Given the description of an element on the screen output the (x, y) to click on. 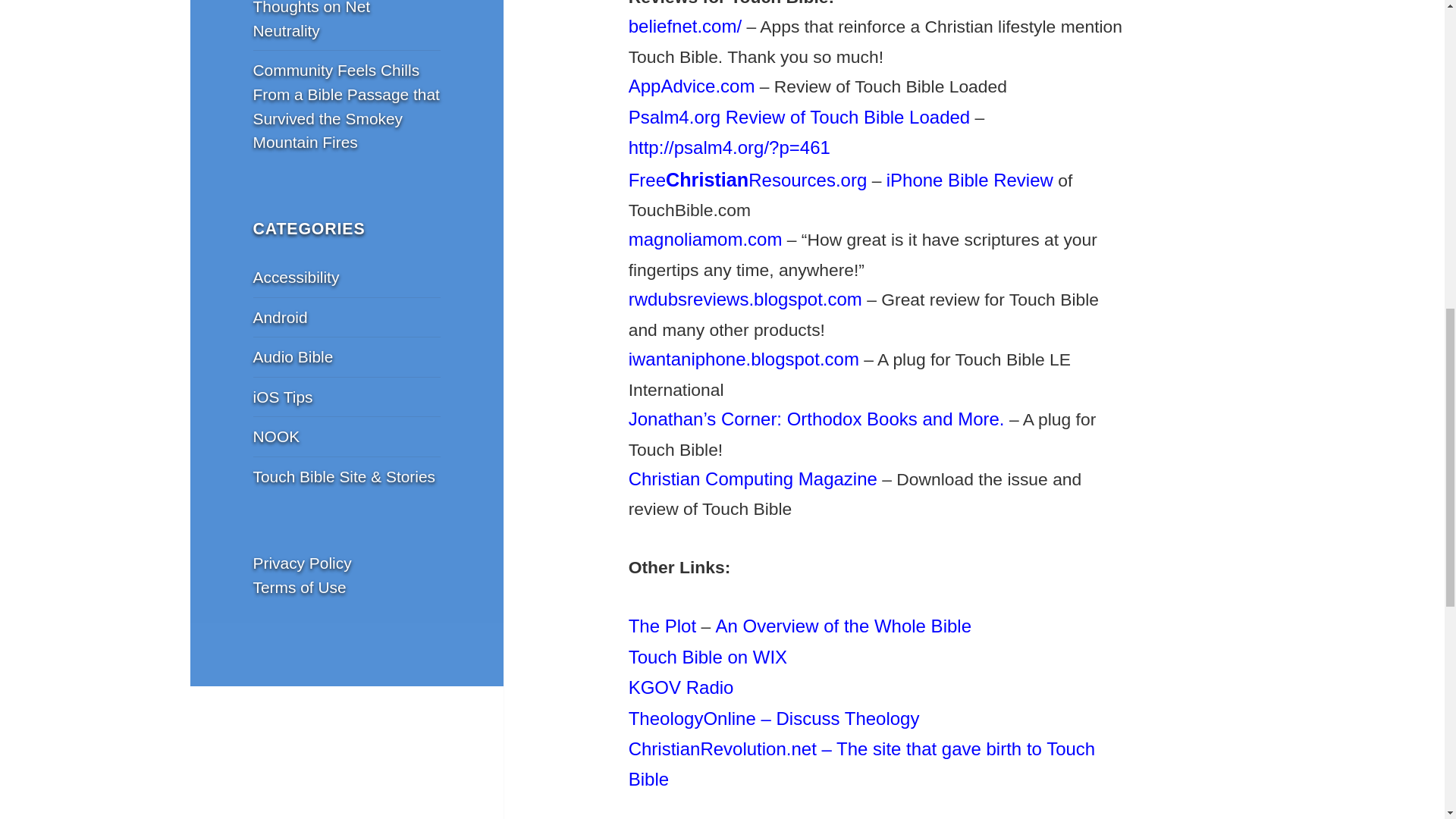
Audio Bible (293, 356)
Terms of Use (299, 587)
Thoughts on Net Neutrality (312, 19)
Android (280, 316)
Privacy Policy (302, 562)
Accessibility (296, 276)
NOOK (276, 436)
